Given the description of an element on the screen output the (x, y) to click on. 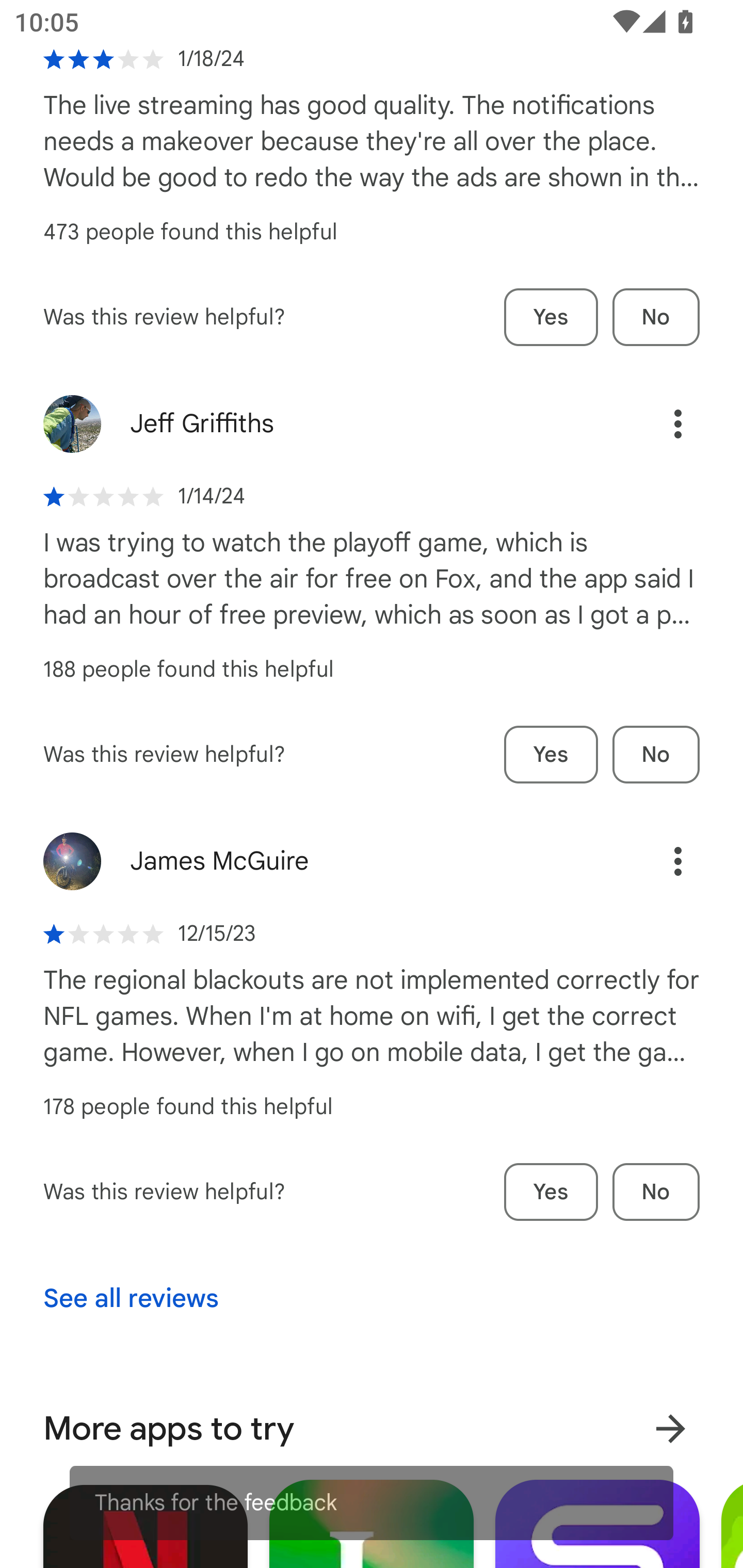
Yes (550, 317)
No (655, 317)
Options (655, 424)
Yes (550, 754)
No (655, 754)
Options (655, 861)
Yes (550, 1192)
No (655, 1192)
See all reviews (130, 1298)
More apps to try More results for More apps to try (371, 1428)
More results for More apps to try (670, 1422)
